Given the description of an element on the screen output the (x, y) to click on. 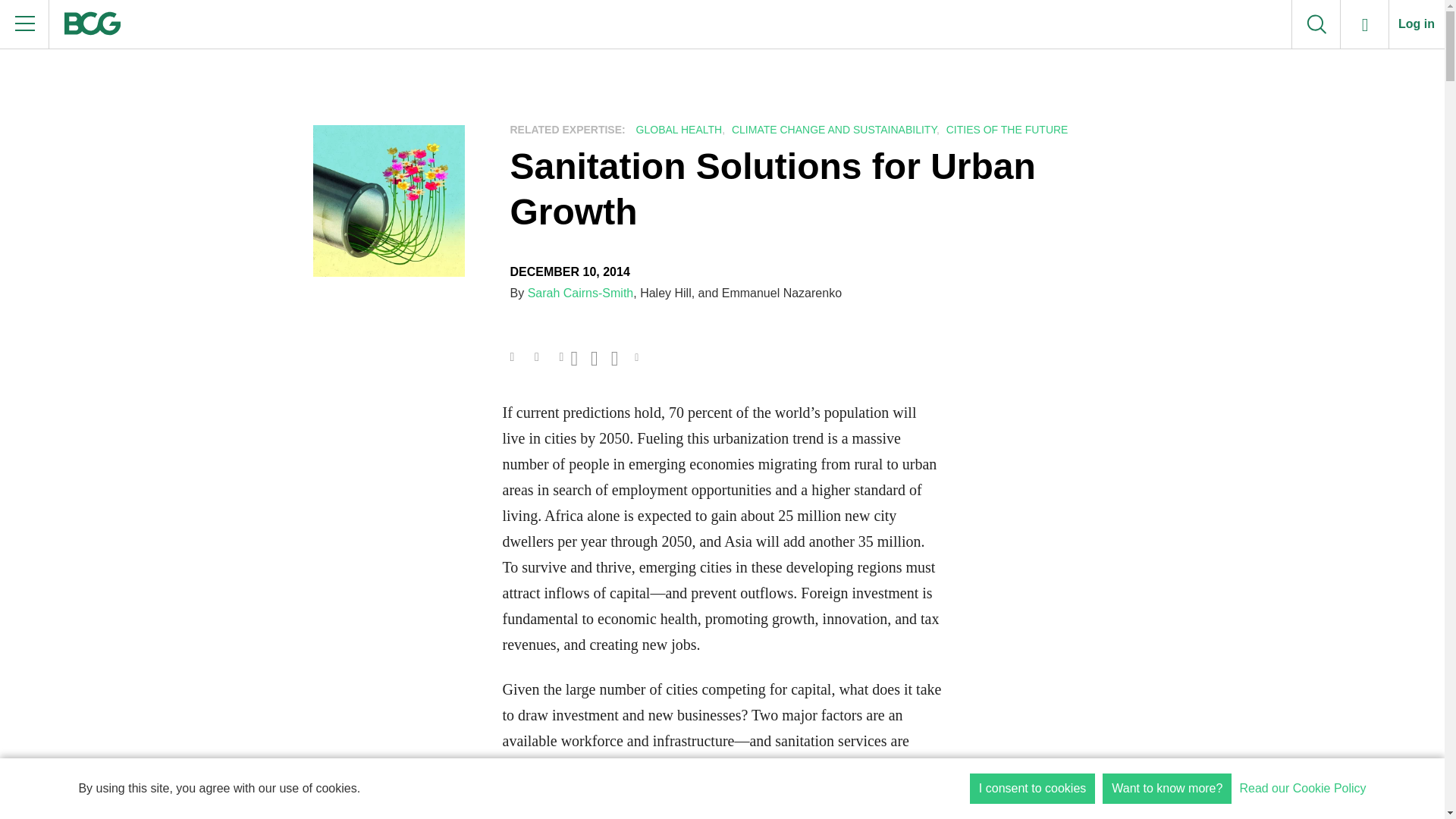
Log in (1416, 24)
CITIES OF THE FUTURE (1005, 129)
GLOBAL HEALTH (676, 129)
Sarah Cairns-Smith (580, 292)
CLIMATE CHANGE AND SUSTAINABILITY (832, 129)
